Given the description of an element on the screen output the (x, y) to click on. 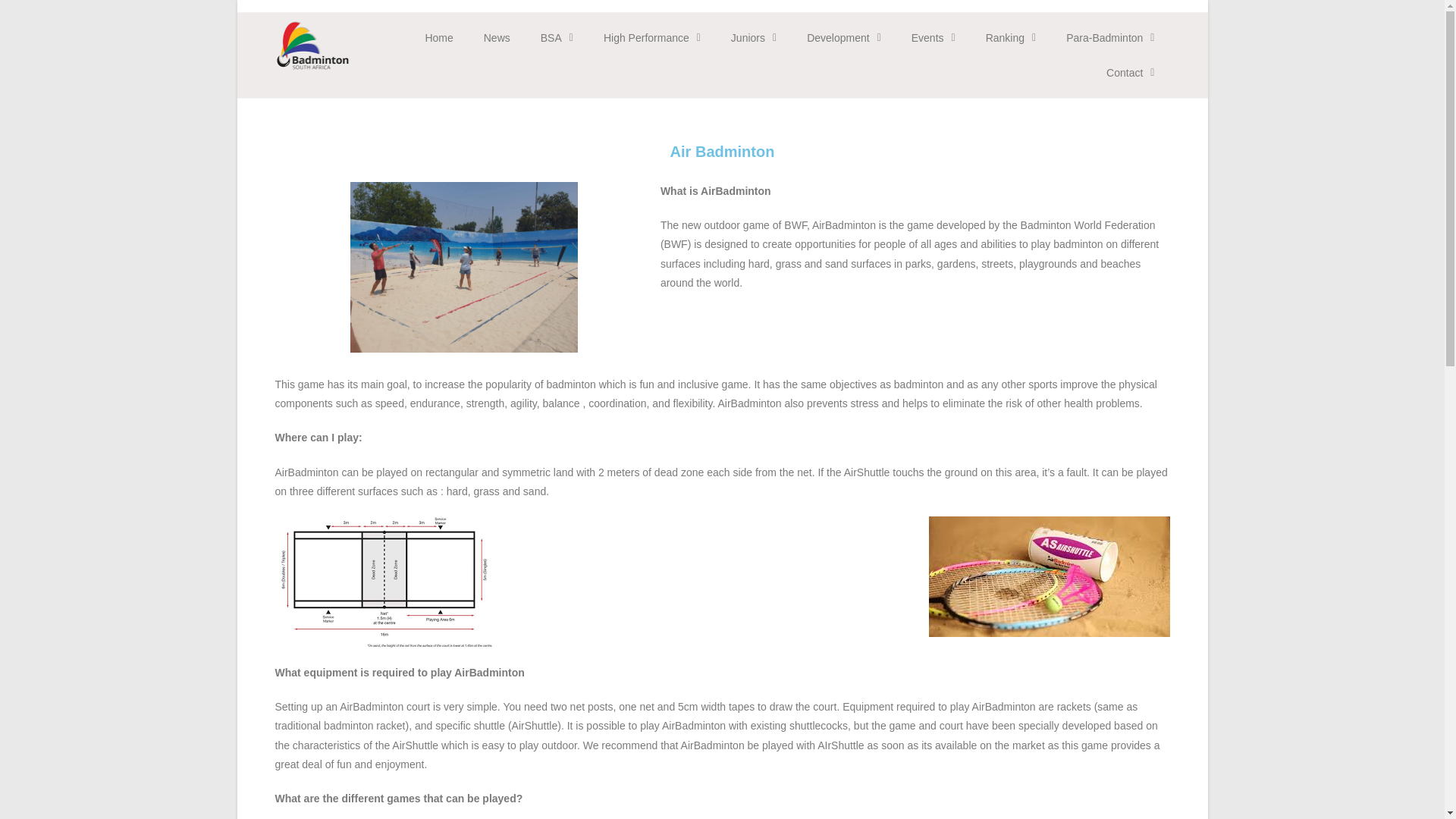
News (496, 37)
Events (933, 37)
BSA (556, 37)
Home (438, 37)
Development (844, 37)
BSA LOGO (312, 45)
High Performance (652, 37)
Juniors (754, 37)
